Given the description of an element on the screen output the (x, y) to click on. 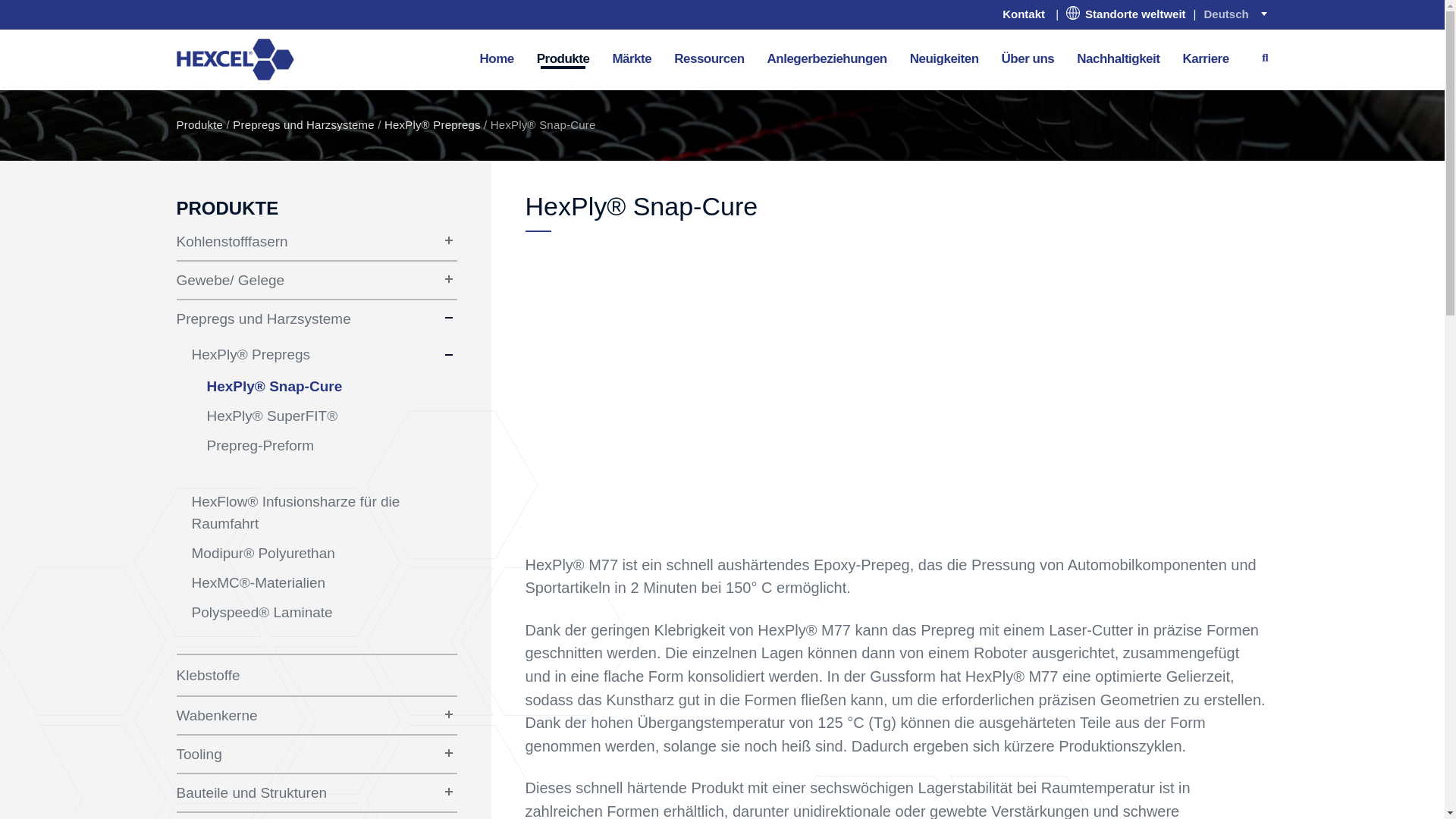
Kontakt (1023, 14)
Anlegerbeziehungen (826, 57)
Produkte (563, 57)
Neuigkeiten (944, 57)
Produkte (199, 124)
PRODUKTE (227, 208)
Prepregs und Harzsysteme (301, 318)
Standorte weltweit (1125, 14)
Kohlenstofffasern (301, 241)
Nachhaltigkeit (1117, 57)
Ressourcen (708, 57)
Prepregs und Harzsysteme (303, 124)
Karriere (1205, 57)
Home (235, 57)
Home (495, 57)
